Given the description of an element on the screen output the (x, y) to click on. 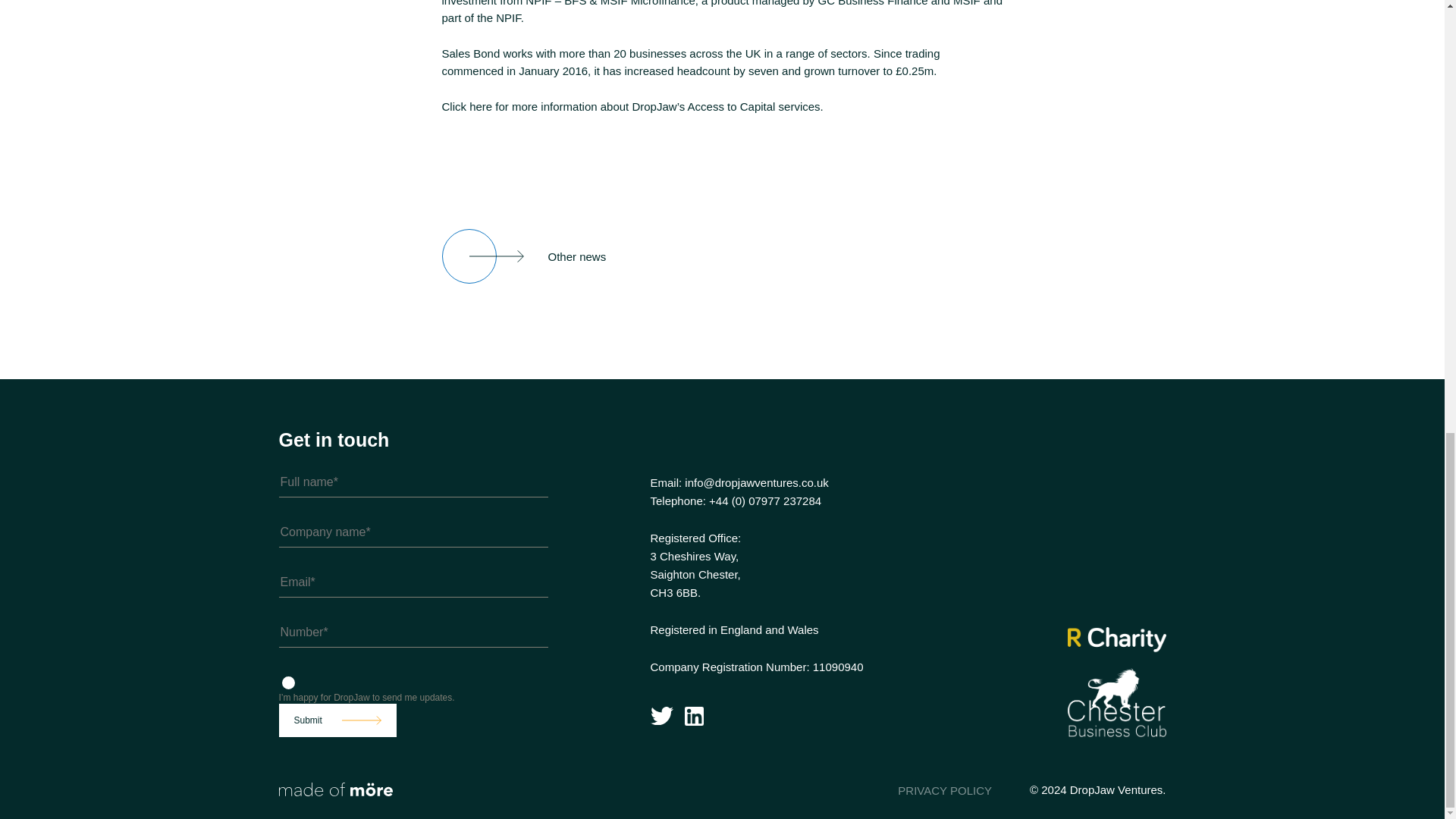
1 (288, 682)
Click here (466, 106)
Submit (337, 720)
Submit (337, 720)
PRIVACY POLICY (944, 789)
Other news (523, 256)
